Given the description of an element on the screen output the (x, y) to click on. 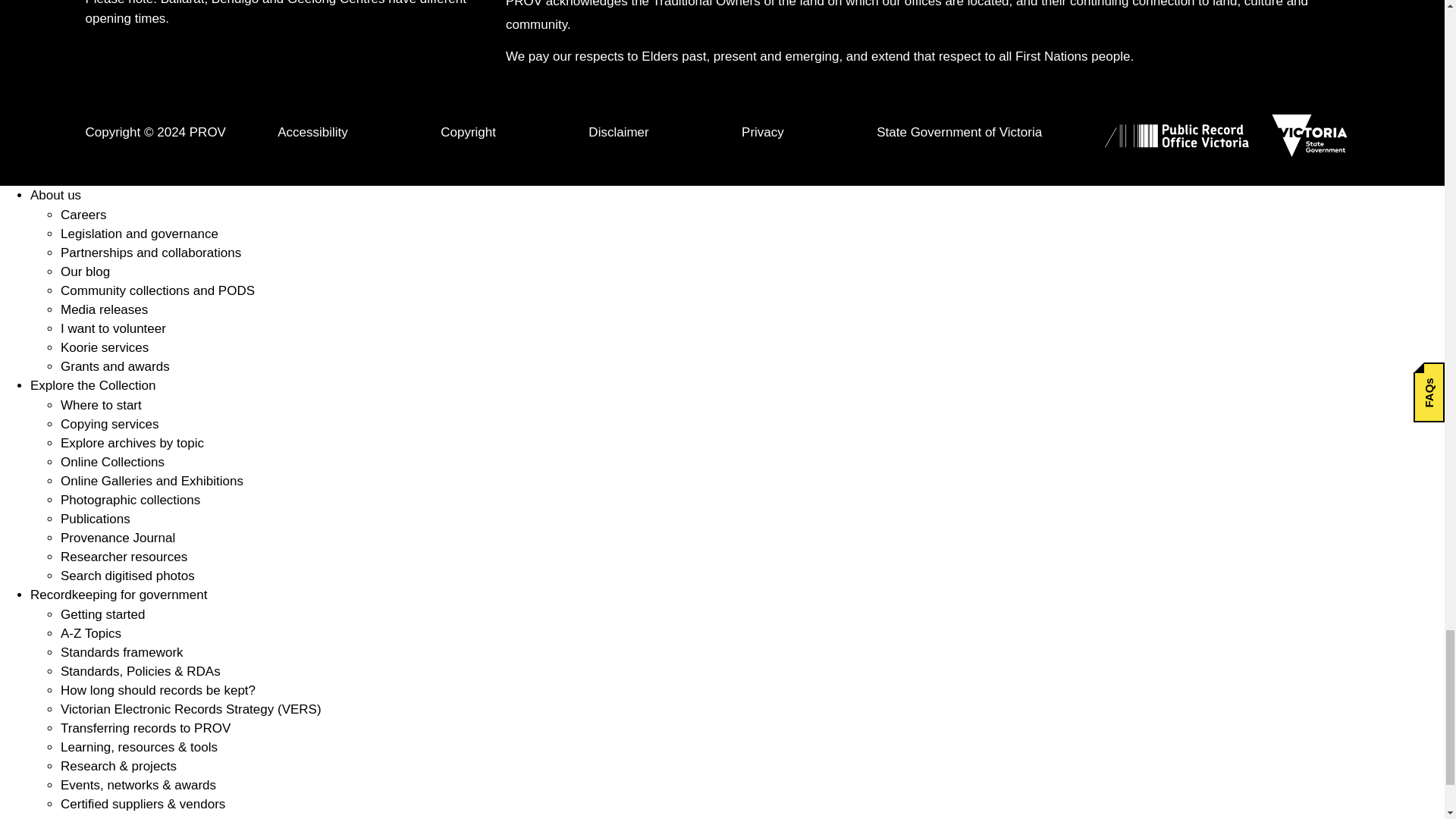
Find guidance about how to transfer records to PROV (145, 728)
Find guidance about retention and disposal of records (158, 690)
Information management and recordkeeping for government (118, 594)
Find our document library, training, tools and case studies (138, 747)
